Given the description of an element on the screen output the (x, y) to click on. 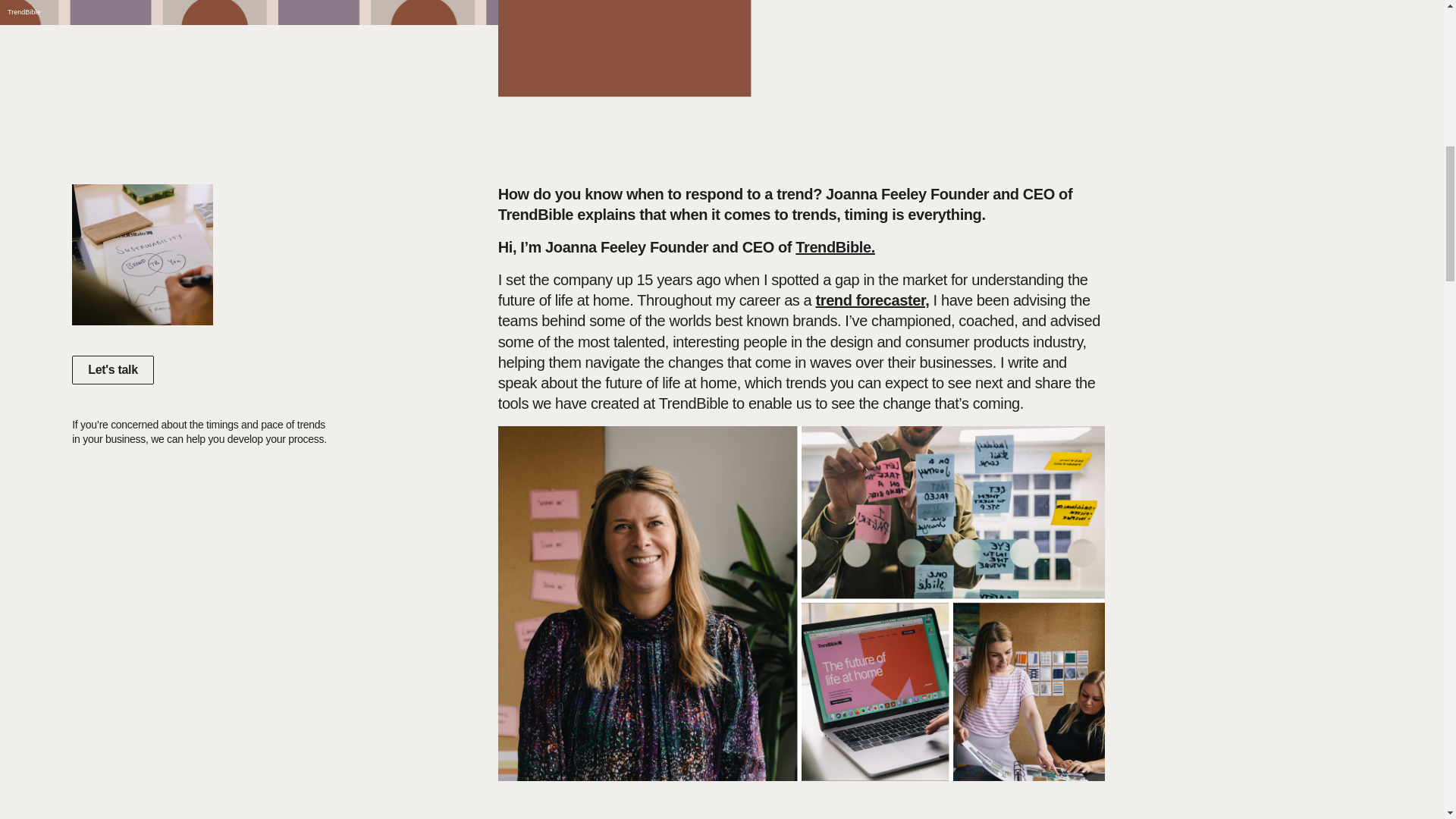
trend forecaster, (872, 299)
TrendBible. (834, 247)
